Given the description of an element on the screen output the (x, y) to click on. 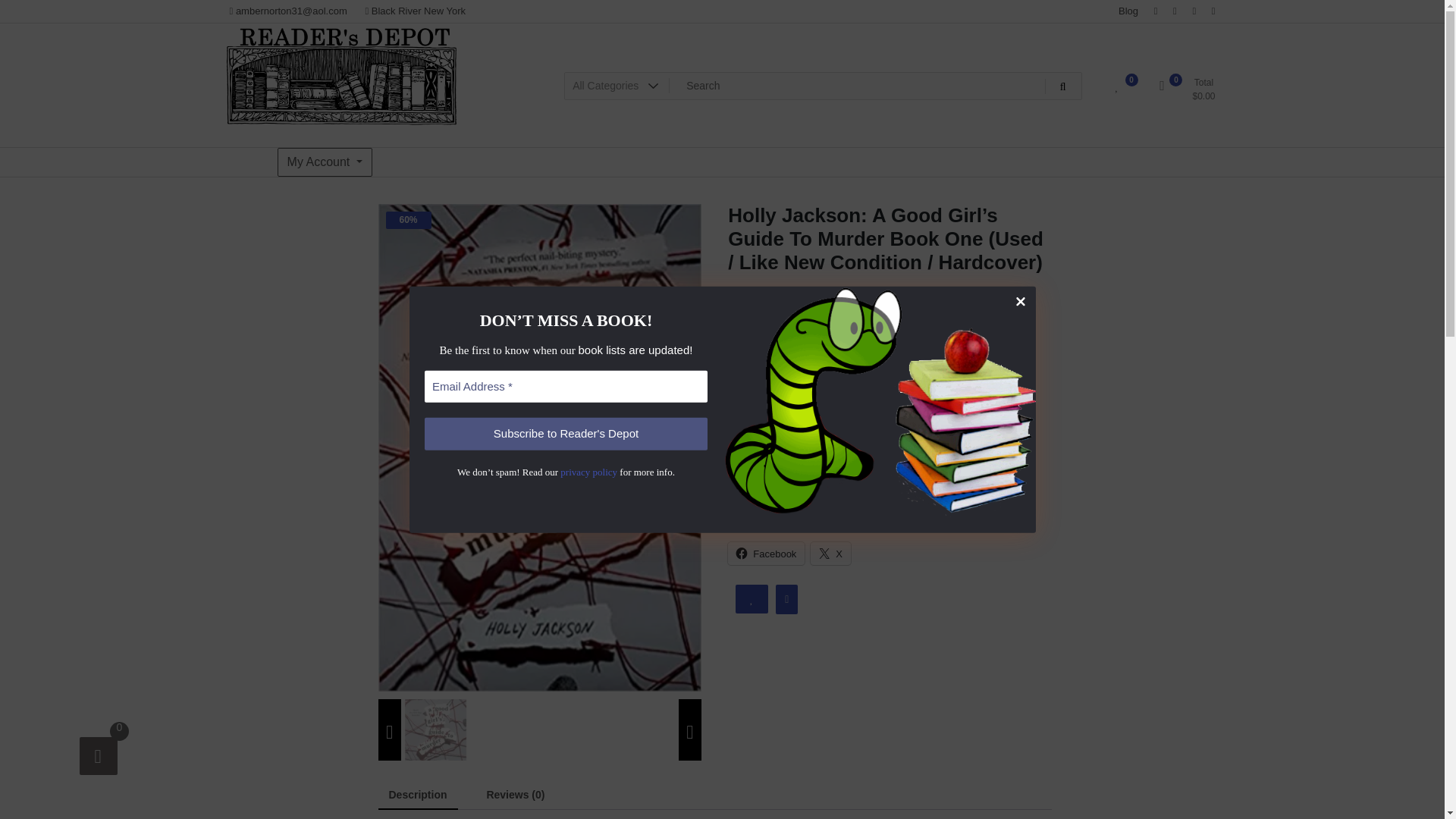
young adult supsense (974, 472)
Description (417, 795)
young adult (889, 472)
Subscribe to Reader's Depot (566, 433)
Facebook (766, 553)
Crime (799, 440)
Click to share on X (830, 553)
Add a review. (829, 291)
Click to share on Facebook (766, 553)
X (830, 553)
Add to cart (840, 394)
Fiction (834, 440)
Email Address (566, 386)
Used Books (996, 440)
